Given the description of an element on the screen output the (x, y) to click on. 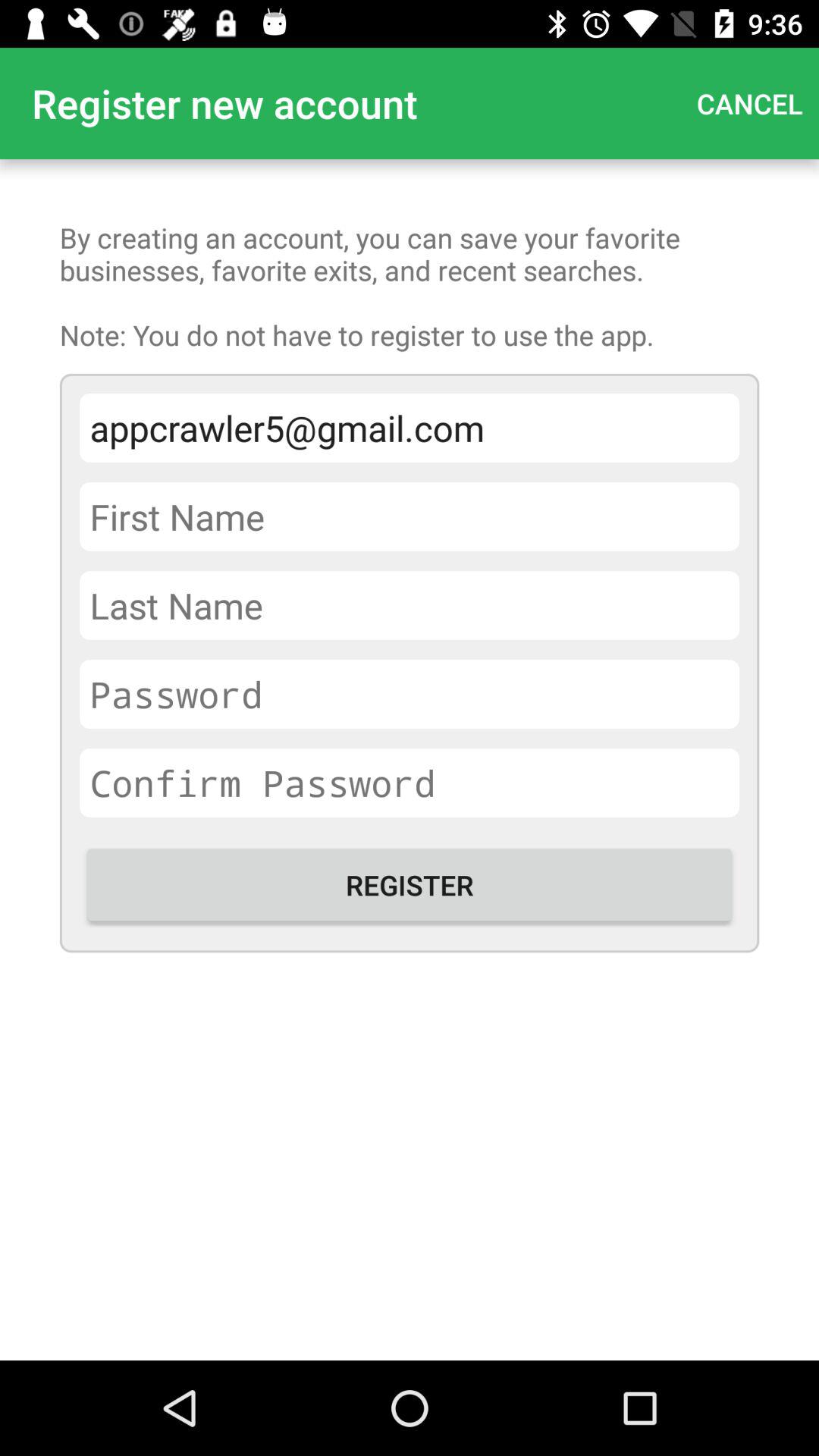
swipe to appcrawler5@gmail.com item (409, 427)
